Given the description of an element on the screen output the (x, y) to click on. 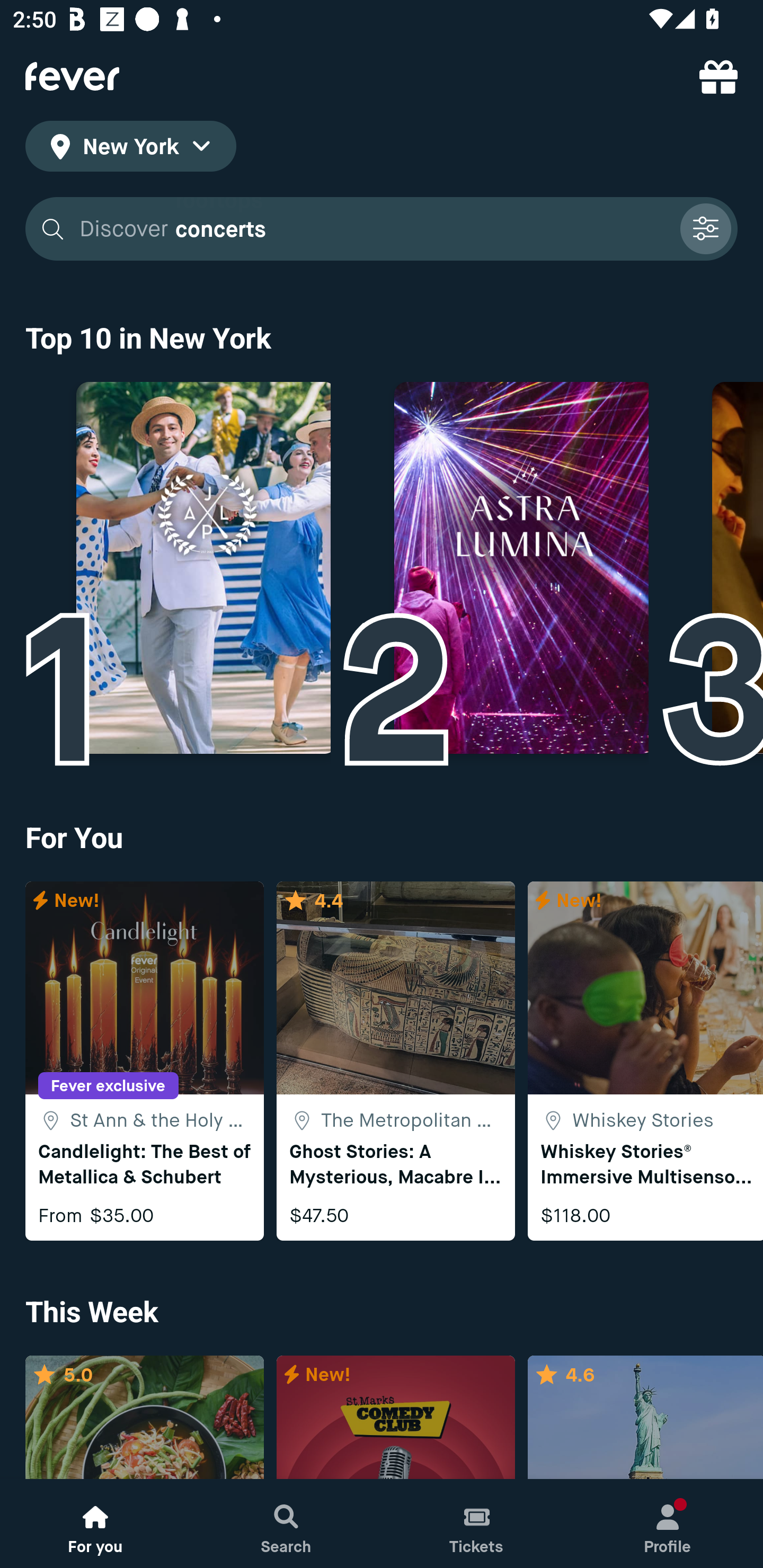
referral (718, 75)
location icon New York location icon (130, 149)
Discover rooftops concerts (381, 228)
Discover rooftops concerts (373, 228)
cover image 50.0 5.0 (144, 1417)
cover image New! label New! Fever exclusive (395, 1417)
cover image 50.0 4.6 (645, 1417)
Search (285, 1523)
Tickets (476, 1523)
Profile, New notification Profile (667, 1523)
